Given the description of an element on the screen output the (x, y) to click on. 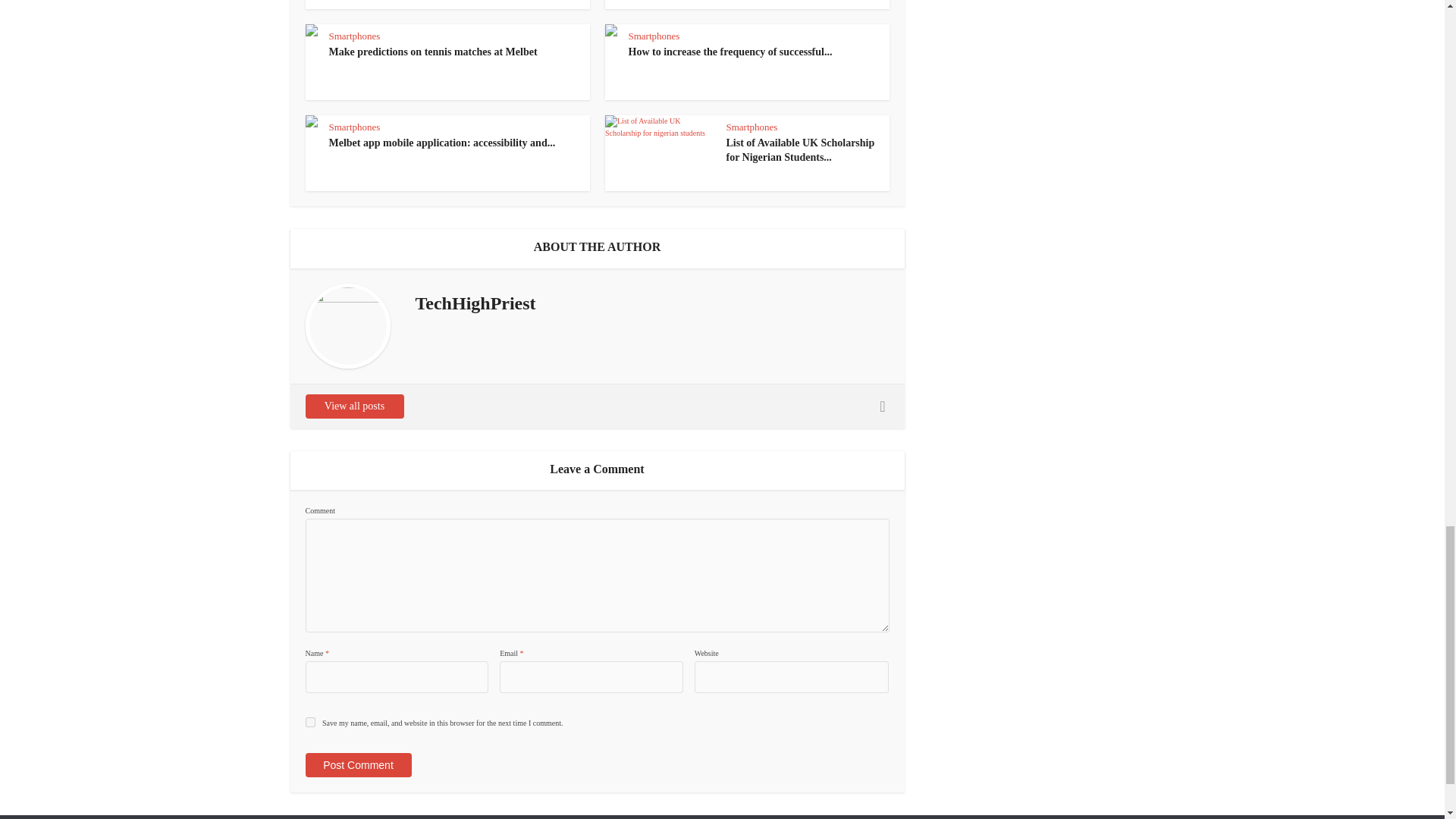
yes (309, 722)
Post Comment (357, 764)
Make predictions on tennis matches at Melbet (433, 51)
